Given the description of an element on the screen output the (x, y) to click on. 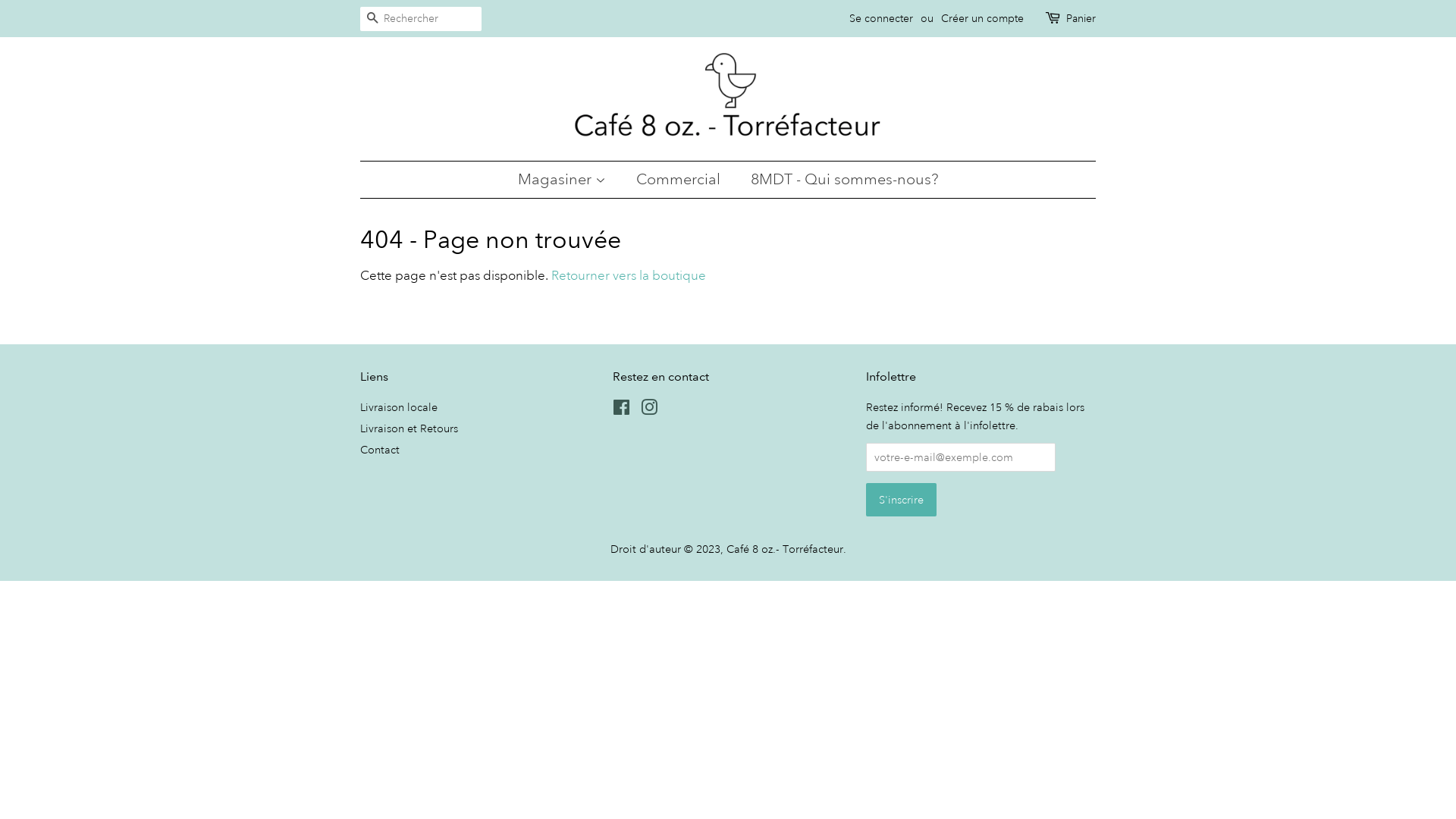
8MDT - Qui sommes-nous? Element type: text (838, 179)
Se connecter Element type: text (881, 18)
S'inscrire Element type: text (901, 499)
Instagram Element type: text (648, 410)
Commercial Element type: text (679, 179)
Contact Element type: text (379, 449)
Retourner vers la boutique Element type: text (628, 275)
Recherche Element type: text (372, 18)
Livraison locale Element type: text (398, 407)
Livraison et Retours Element type: text (409, 428)
Magasiner Element type: text (568, 179)
Panier Element type: text (1080, 18)
Facebook Element type: text (621, 410)
